Given the description of an element on the screen output the (x, y) to click on. 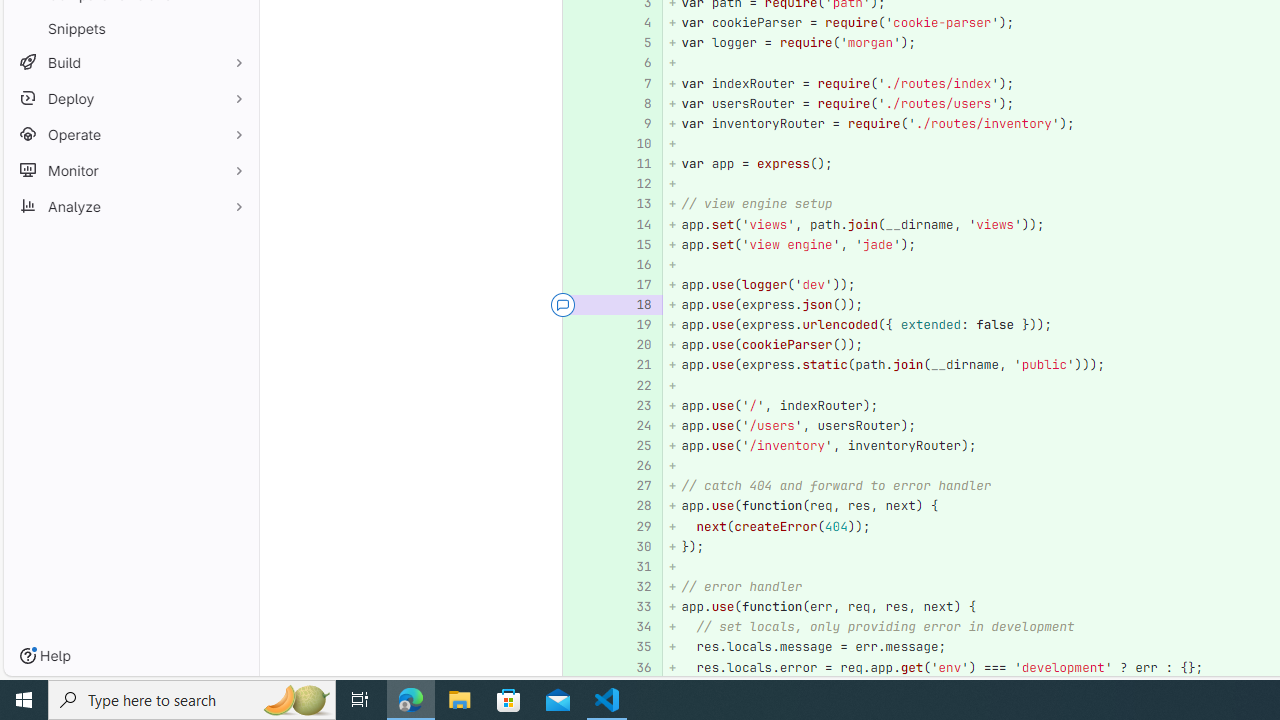
17 (637, 284)
7 (633, 83)
15 (633, 244)
Snippets (130, 28)
17 (633, 284)
20 (637, 344)
29 (637, 526)
13 (637, 204)
Build (130, 62)
21 (637, 364)
Monitor (130, 170)
26 (633, 465)
5 (637, 43)
22 (637, 385)
13 (633, 204)
